Given the description of an element on the screen output the (x, y) to click on. 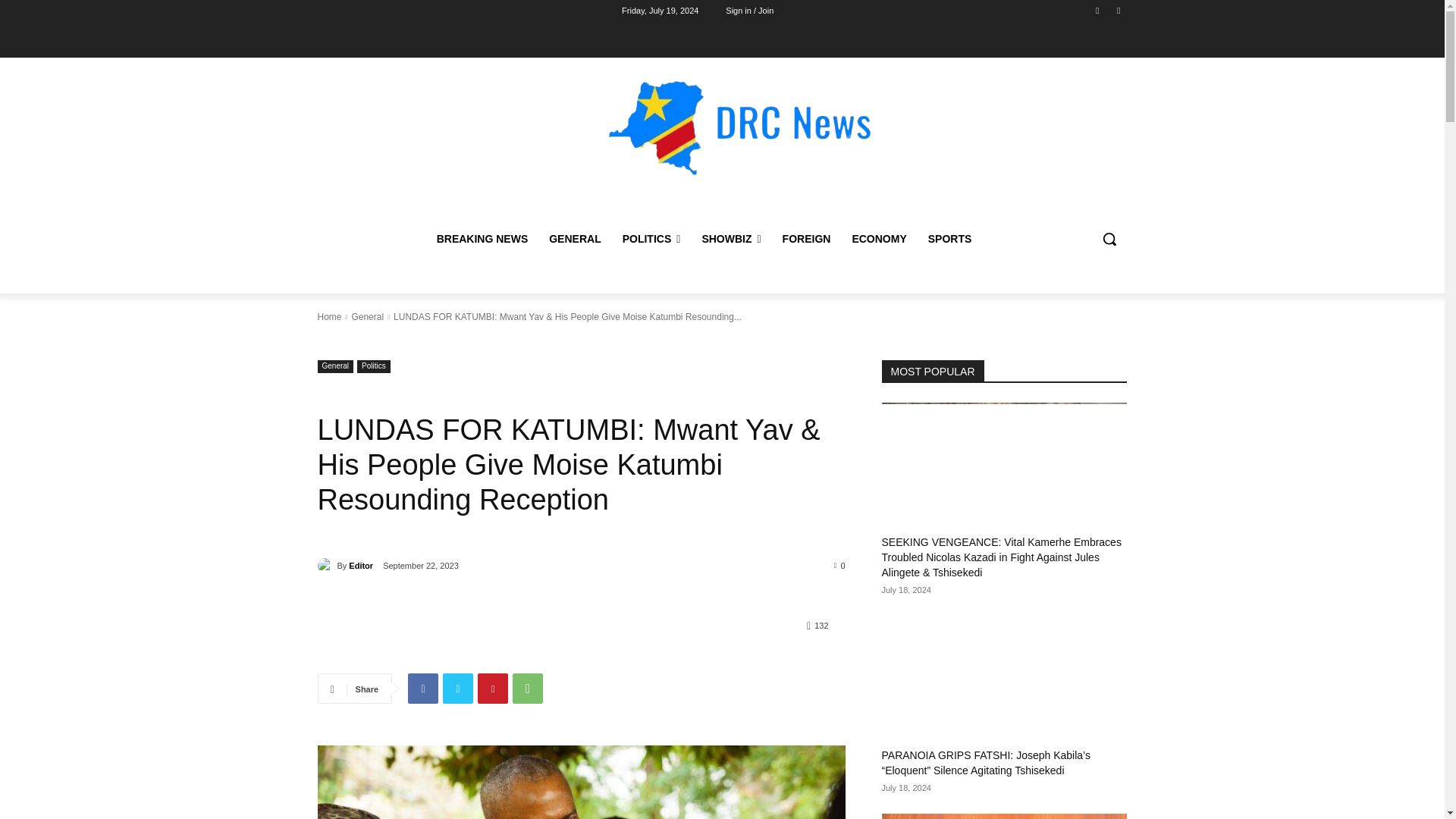
SHOWBIZ (730, 238)
Twitter (1117, 9)
POLITICS (651, 238)
GENERAL (574, 238)
BREAKING NEWS (482, 238)
Facebook (1097, 9)
